Given the description of an element on the screen output the (x, y) to click on. 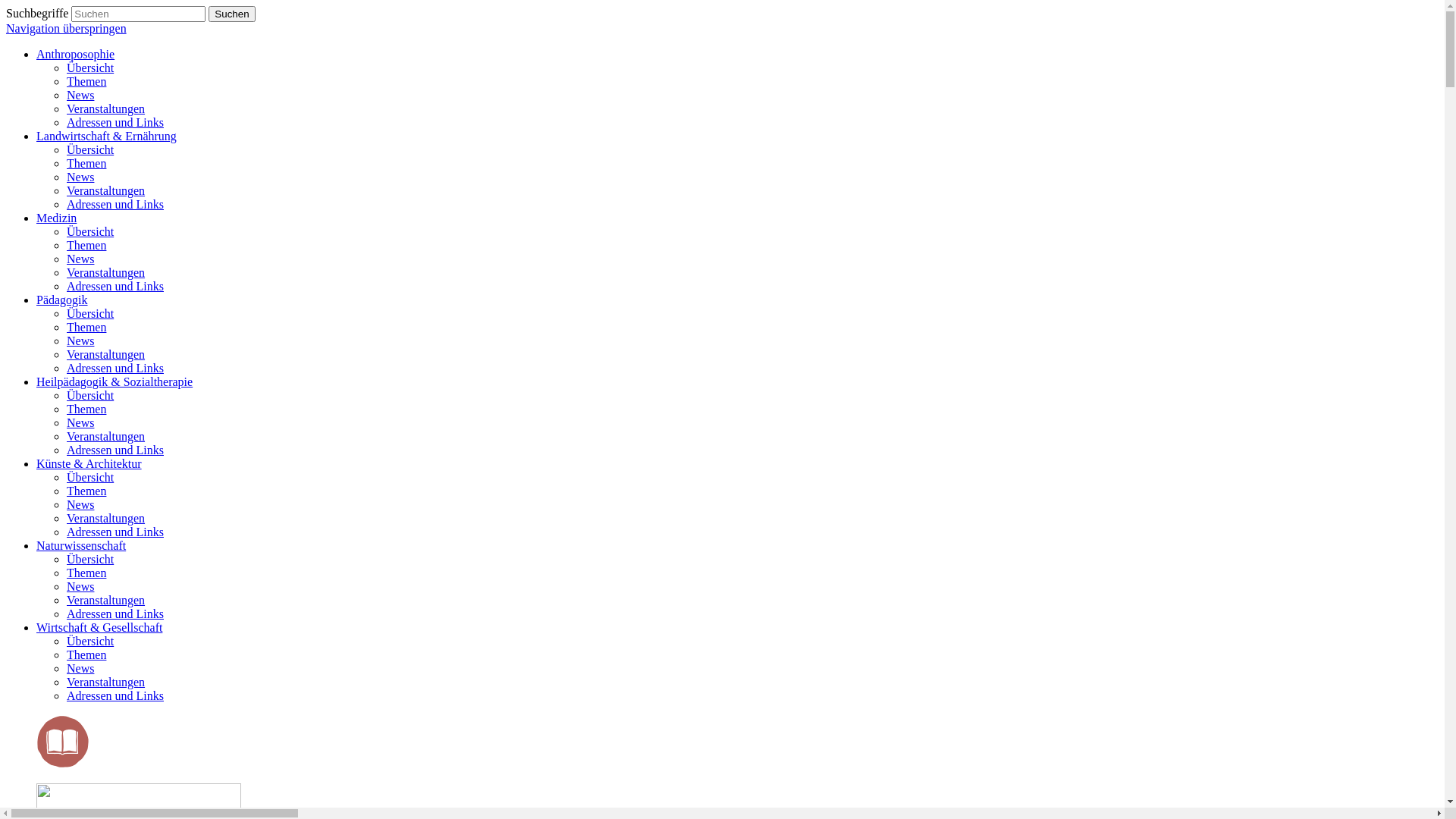
Themen Element type: text (86, 244)
Medizin Element type: text (56, 217)
Adressen und Links Element type: text (114, 695)
News Element type: text (80, 422)
Adressen und Links Element type: text (114, 613)
News Element type: text (80, 94)
Themen Element type: text (86, 81)
Adressen und Links Element type: text (114, 285)
Themen Element type: text (86, 162)
News Element type: text (80, 586)
Adressen und Links Element type: text (114, 203)
Veranstaltungen Element type: text (105, 272)
Themen Element type: text (86, 408)
Themen Element type: text (86, 490)
Themen Element type: text (86, 572)
News Element type: text (80, 668)
Adressen und Links Element type: text (114, 449)
Wirtschaft & Gesellschaft Element type: text (99, 627)
Adressen und Links Element type: text (114, 531)
News Element type: text (80, 176)
Veranstaltungen Element type: text (105, 599)
Veranstaltungen Element type: text (105, 354)
Veranstaltungen Element type: text (105, 190)
News Element type: text (80, 340)
Veranstaltungen Element type: text (105, 517)
Adressen und Links Element type: text (114, 122)
Themen Element type: text (86, 654)
Veranstaltungen Element type: text (105, 435)
Adressen und Links Element type: text (114, 367)
News Element type: text (80, 504)
Themen Element type: text (86, 326)
Veranstaltungen Element type: text (105, 108)
News Element type: text (80, 258)
Veranstaltungen Element type: text (105, 681)
Suchen Element type: text (231, 13)
